Given the description of an element on the screen output the (x, y) to click on. 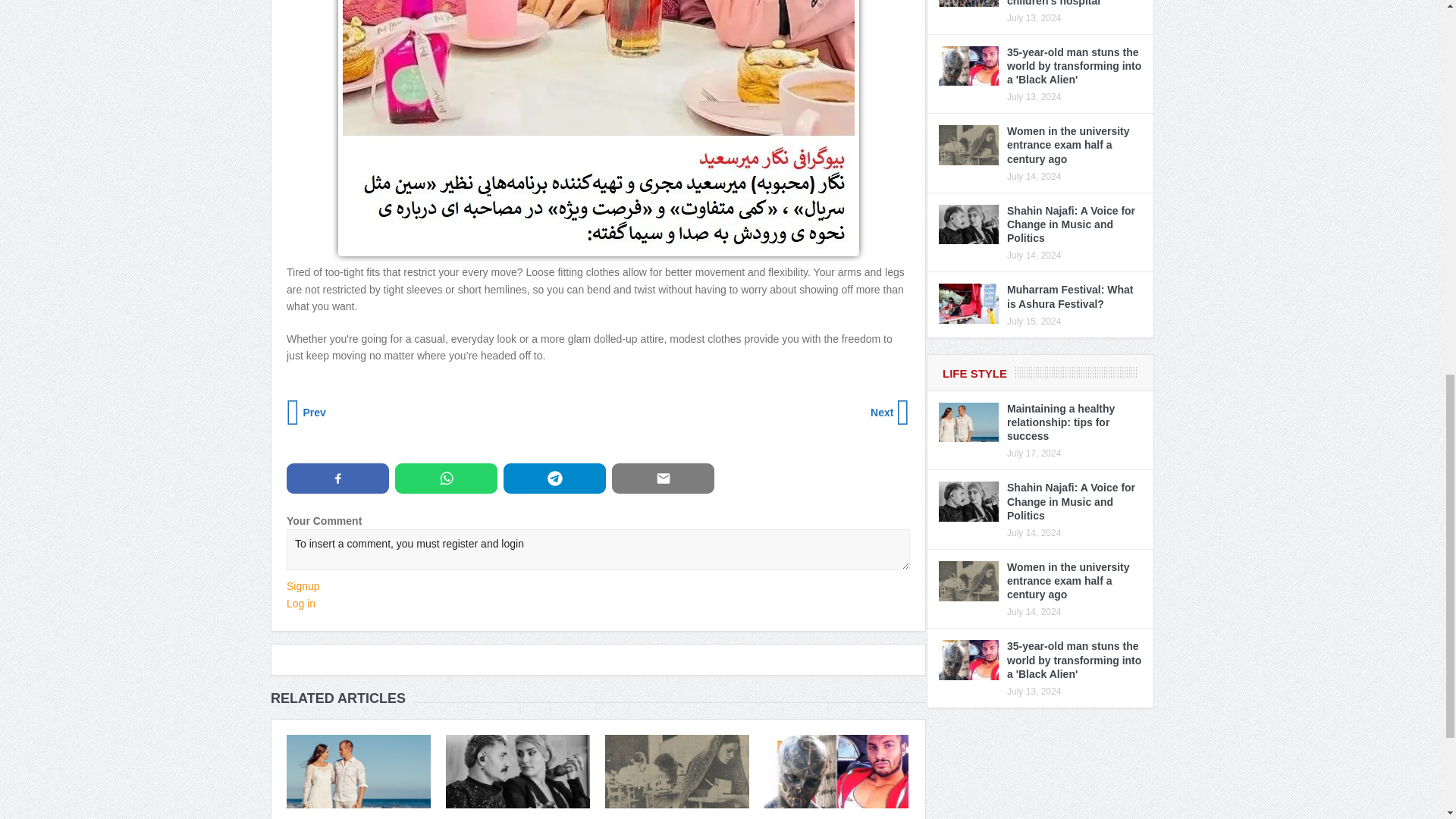
Prev (307, 411)
Log in (300, 603)
Signup (303, 585)
Next (888, 411)
